Given the description of an element on the screen output the (x, y) to click on. 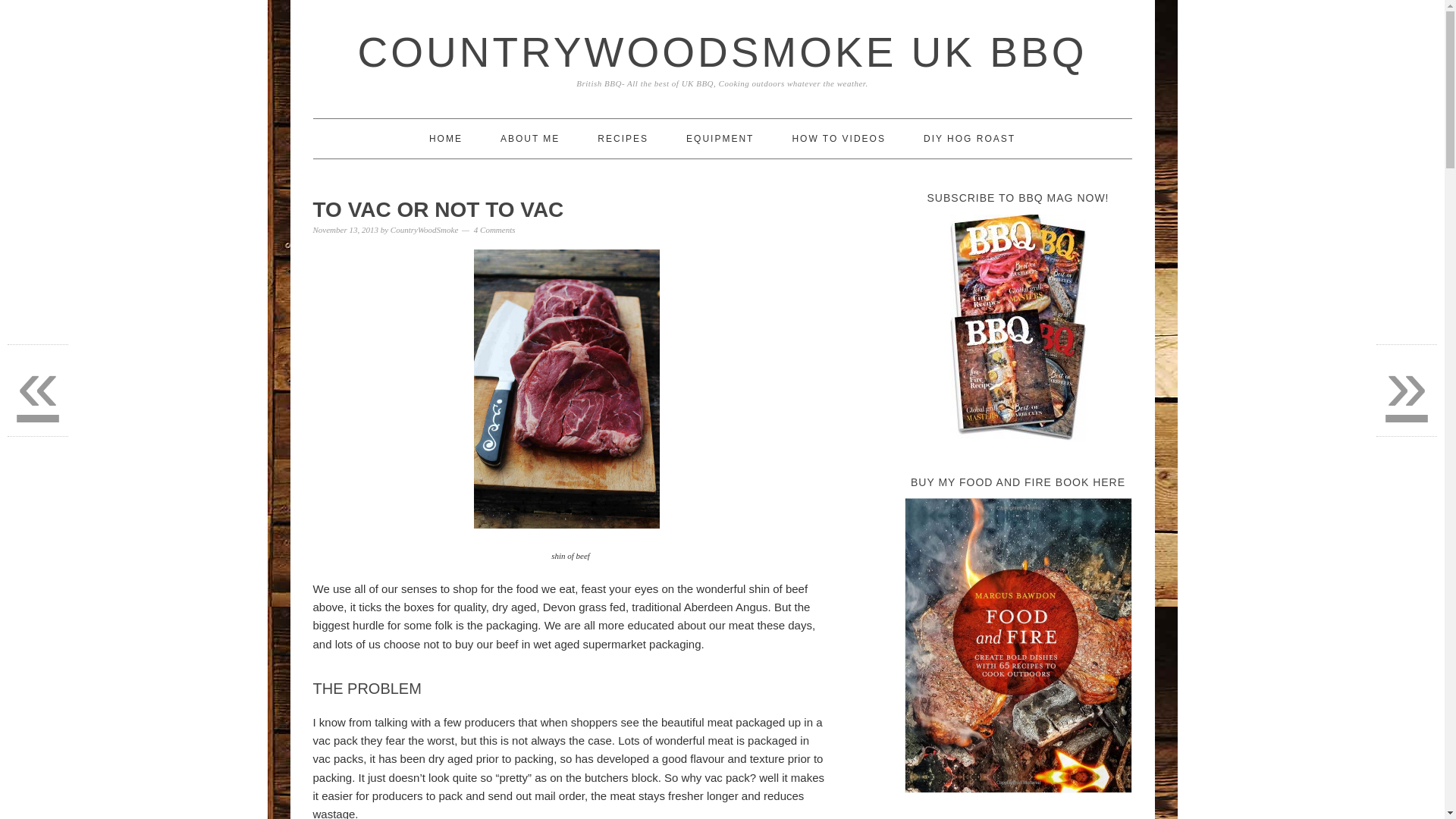
HOW TO VIDEOS (838, 138)
CountryWoodSmoke (424, 229)
RECIPES (622, 138)
HOME (445, 138)
4 Comments (494, 229)
COUNTRYWOODSMOKE UK BBQ (722, 52)
DIY HOG ROAST (968, 138)
ABOUT ME (529, 138)
EQUIPMENT (719, 138)
